Given the description of an element on the screen output the (x, y) to click on. 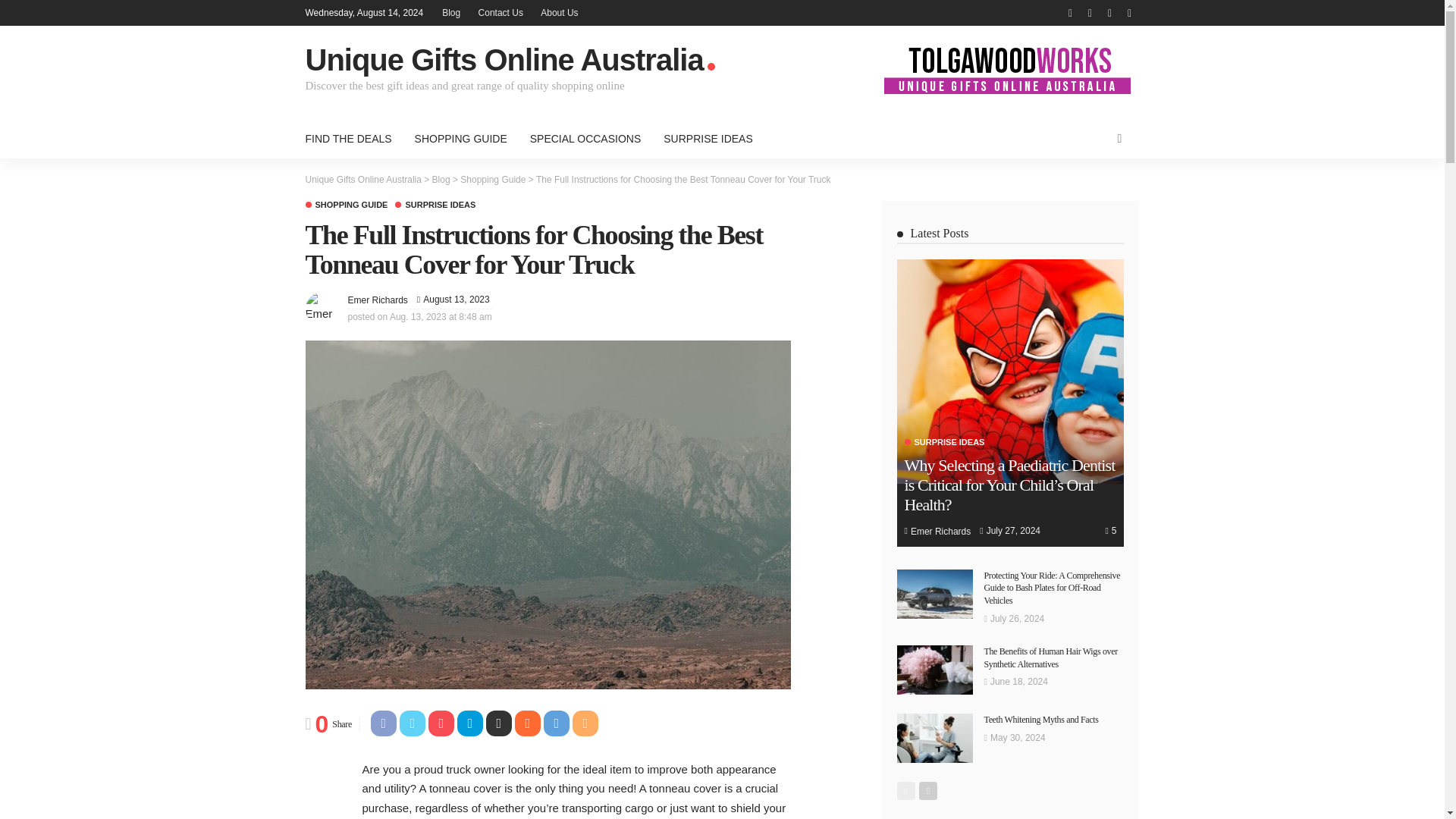
Contact Us (500, 12)
SHOPPING GUIDE (345, 203)
About Us (558, 12)
search (1118, 137)
SURPRISE IDEAS (707, 137)
Unique Gifts Online Australia (362, 179)
Surprise ideas (435, 203)
Go to Blog. (440, 179)
Blog (440, 179)
SPECIAL OCCASIONS (585, 137)
